Given the description of an element on the screen output the (x, y) to click on. 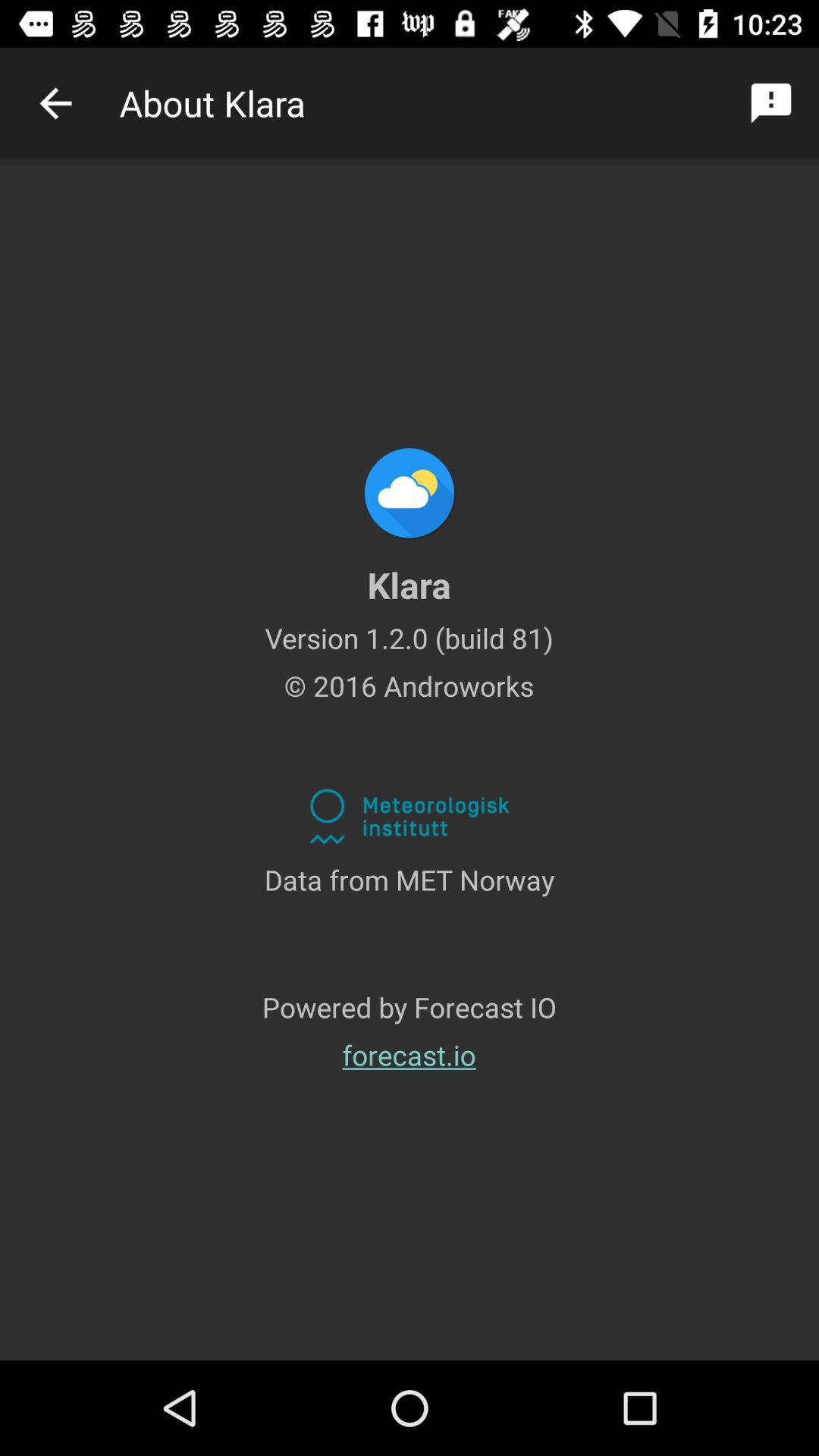
launch item to the left of the about klara item (55, 103)
